Given the description of an element on the screen output the (x, y) to click on. 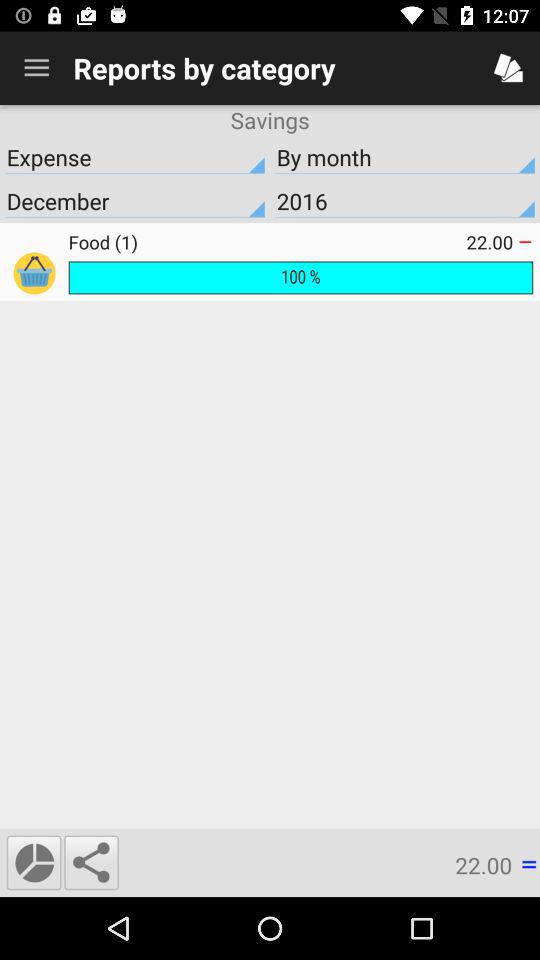
launch the icon next to 22.00 icon (91, 862)
